Given the description of an element on the screen output the (x, y) to click on. 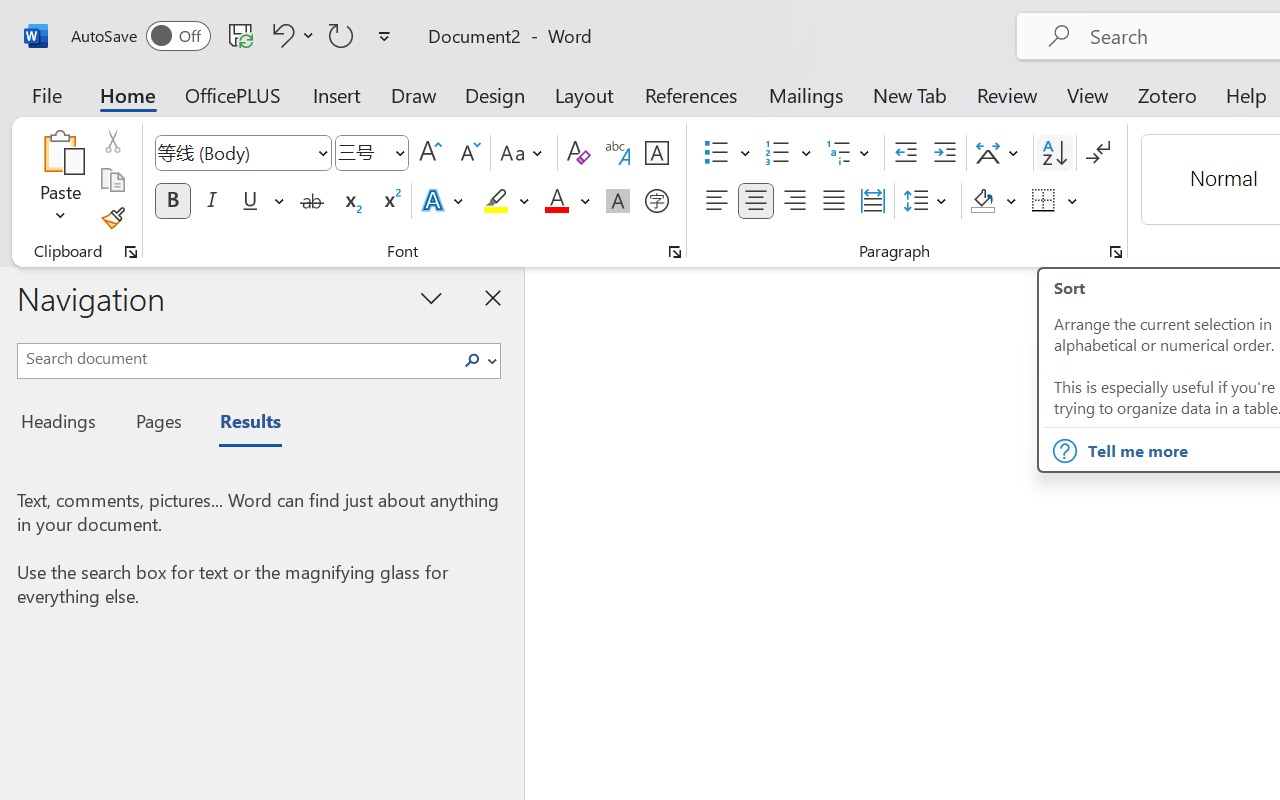
File (52, 18)
Explorer Section: windows_crawler (175, 89)
Close (Ctrl+F4) (648, 58)
Testing (24, 332)
Go Forward (Alt+RightArrow) (986, 18)
Explorer actions (208, 58)
Tab actions (648, 58)
auto.py (483, 58)
Go (235, 18)
del.py (604, 58)
Extensions (Ctrl+Shift+X) (24, 278)
